Given the description of an element on the screen output the (x, y) to click on. 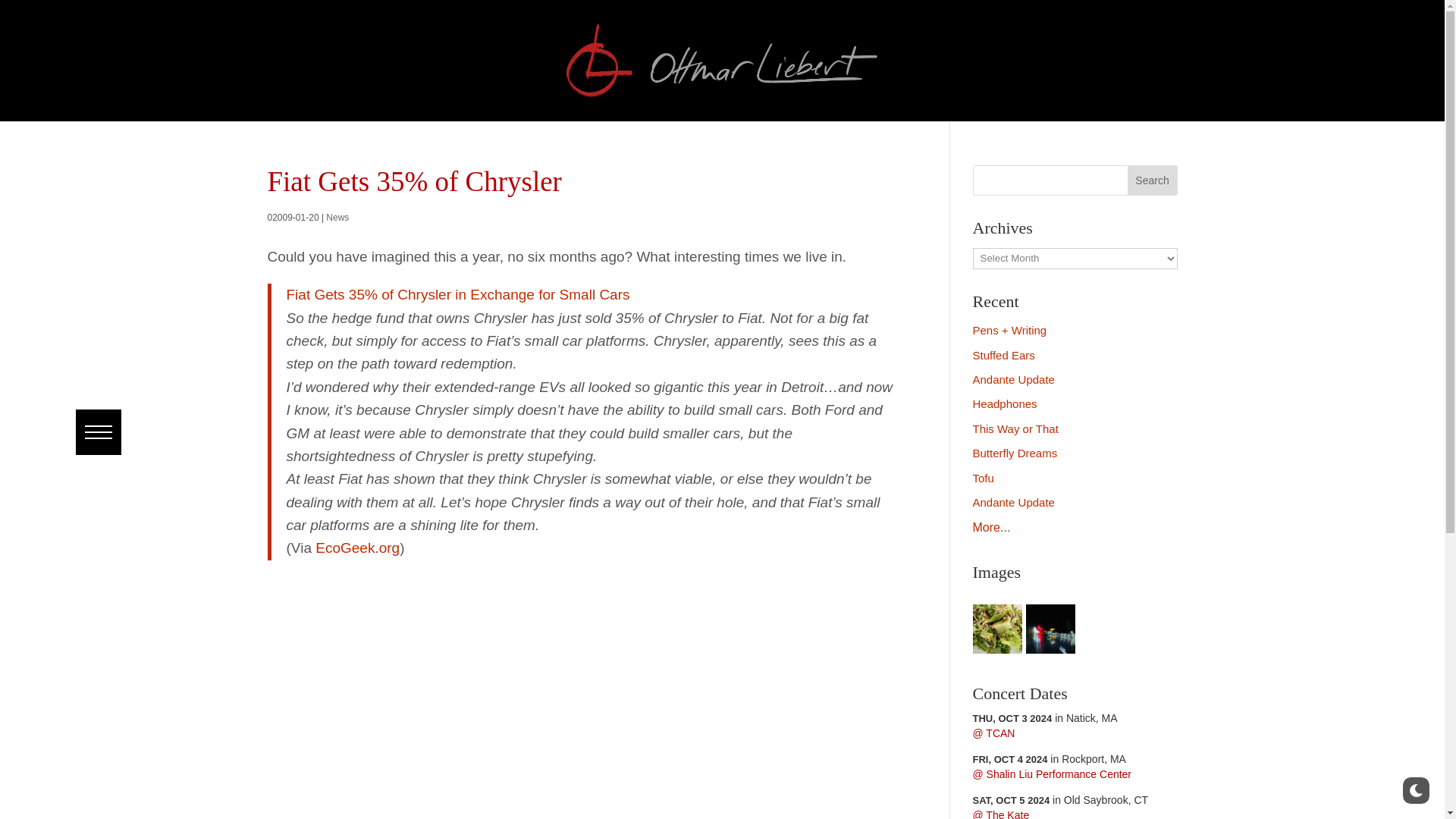
THU, OCT 3 2024 in Natick, MA (1044, 717)
This Way or That (1015, 428)
Andante Update (1013, 502)
More... (991, 526)
Search (48, 10)
Tofu (982, 477)
Search (1151, 180)
Butterfly Dreams (1014, 452)
Headphones (1004, 403)
ol-hand-drawn-logo-8bit (722, 60)
Andante Update (1013, 379)
Search (1151, 180)
EcoGeek.org (356, 547)
News (337, 217)
Stuffed Ears (1002, 354)
